Given the description of an element on the screen output the (x, y) to click on. 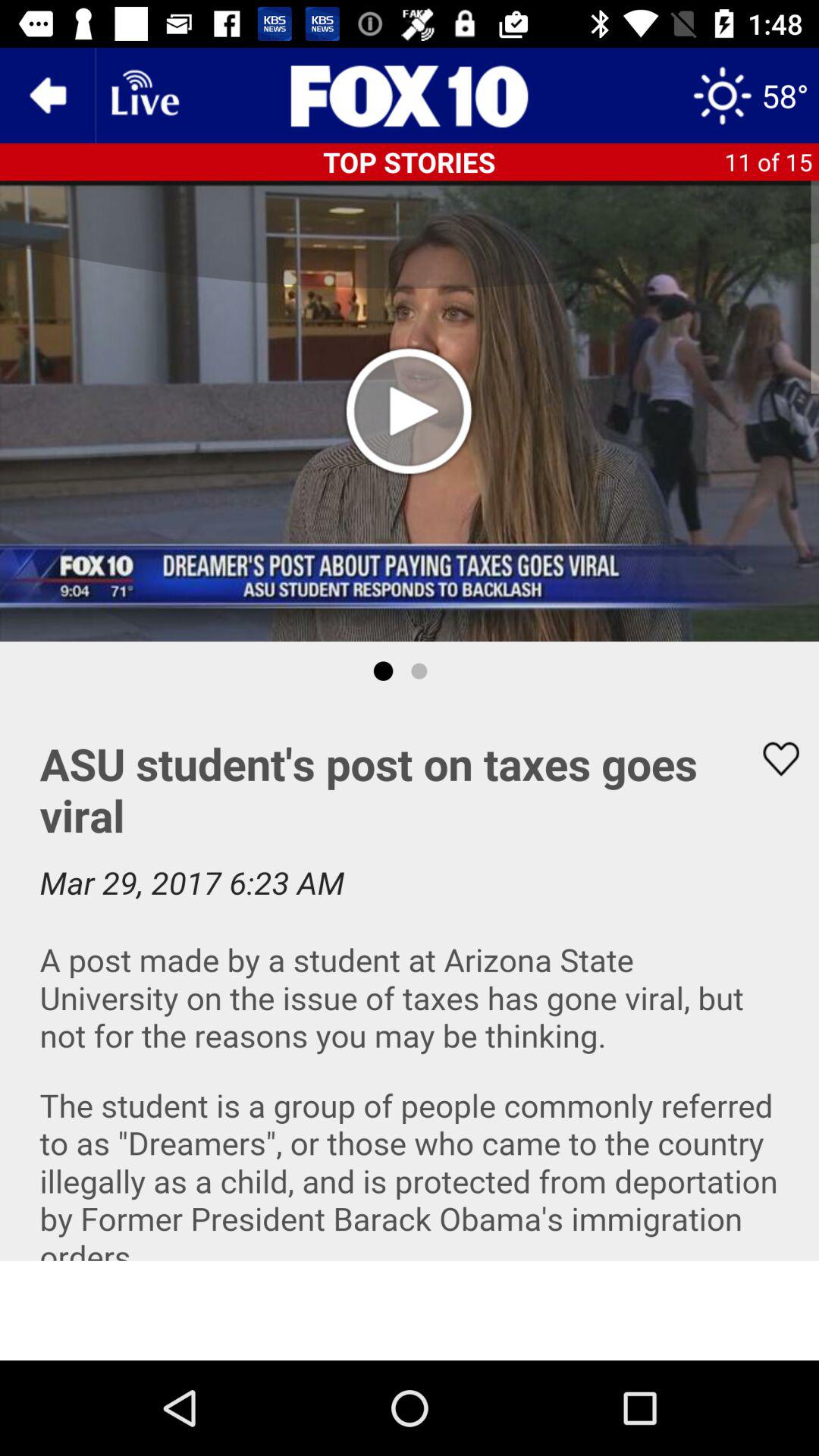
click to live option (143, 95)
